Given the description of an element on the screen output the (x, y) to click on. 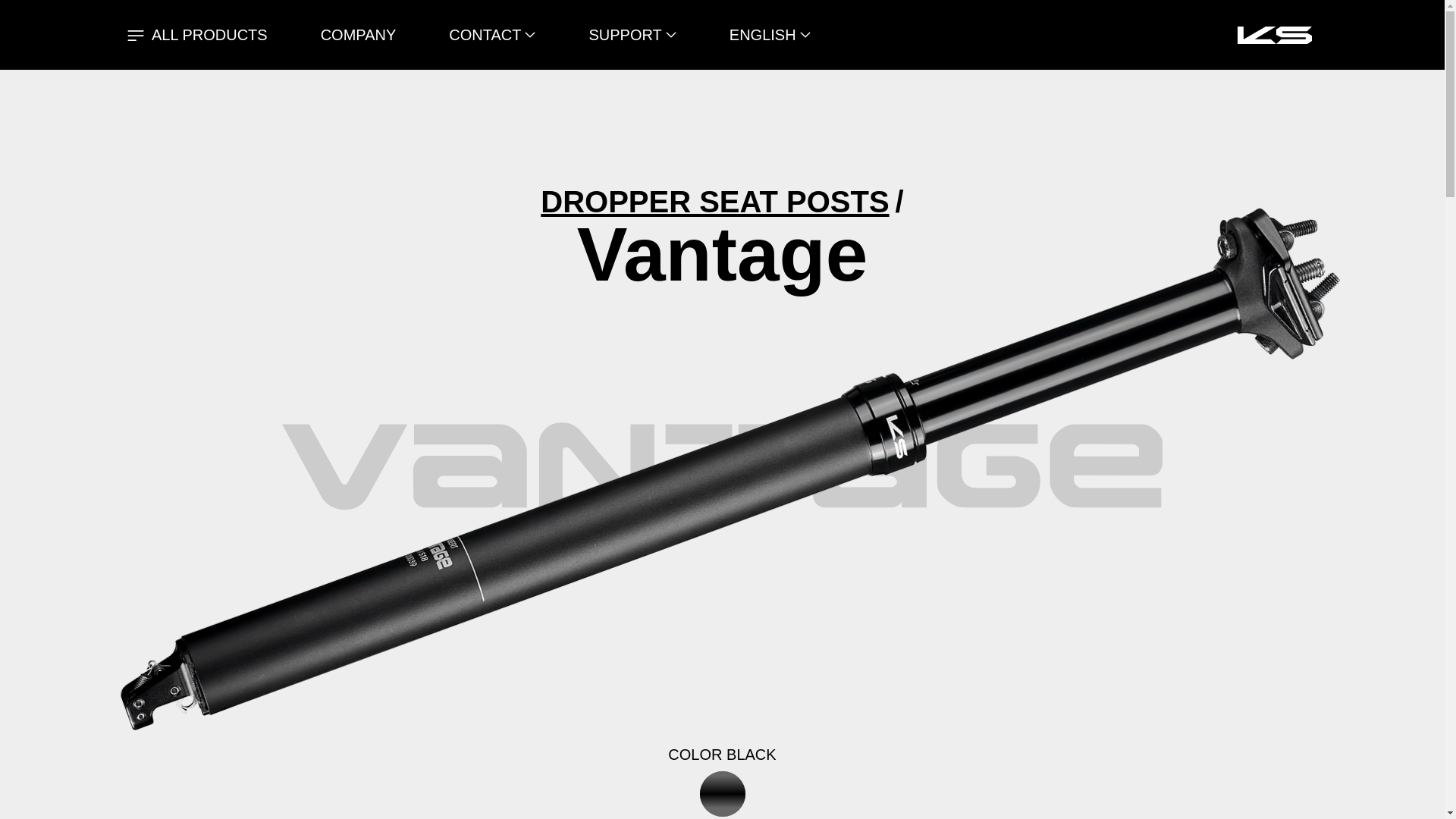
COMPANY (384, 34)
English (762, 34)
CONTACT (484, 34)
ALL PRODUCTS (235, 34)
SUPPORT (624, 34)
ENGLISH (762, 34)
